Given the description of an element on the screen output the (x, y) to click on. 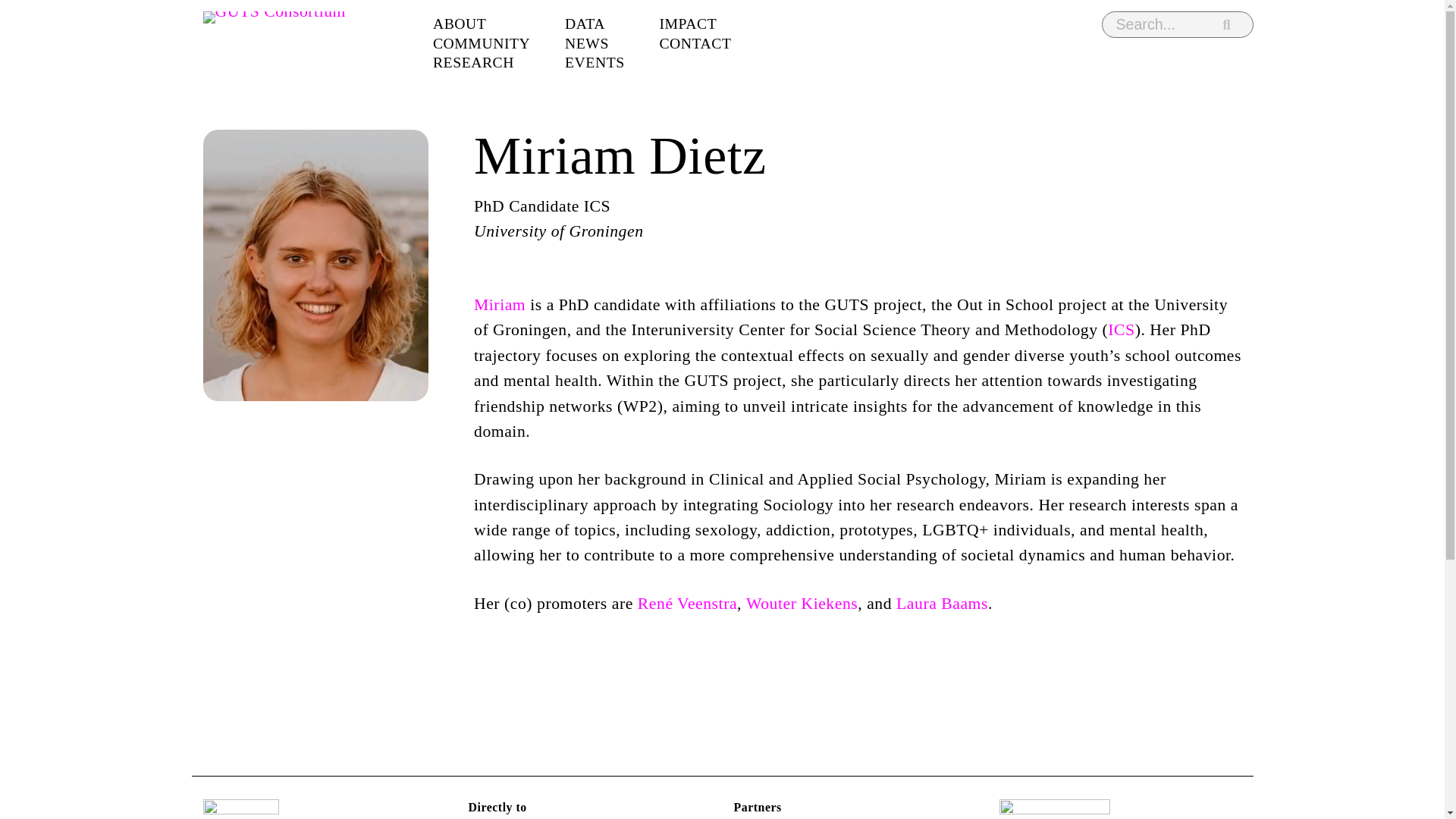
RESEARCH (490, 62)
COMMUNITY (498, 43)
ABOUT (476, 23)
